Given the description of an element on the screen output the (x, y) to click on. 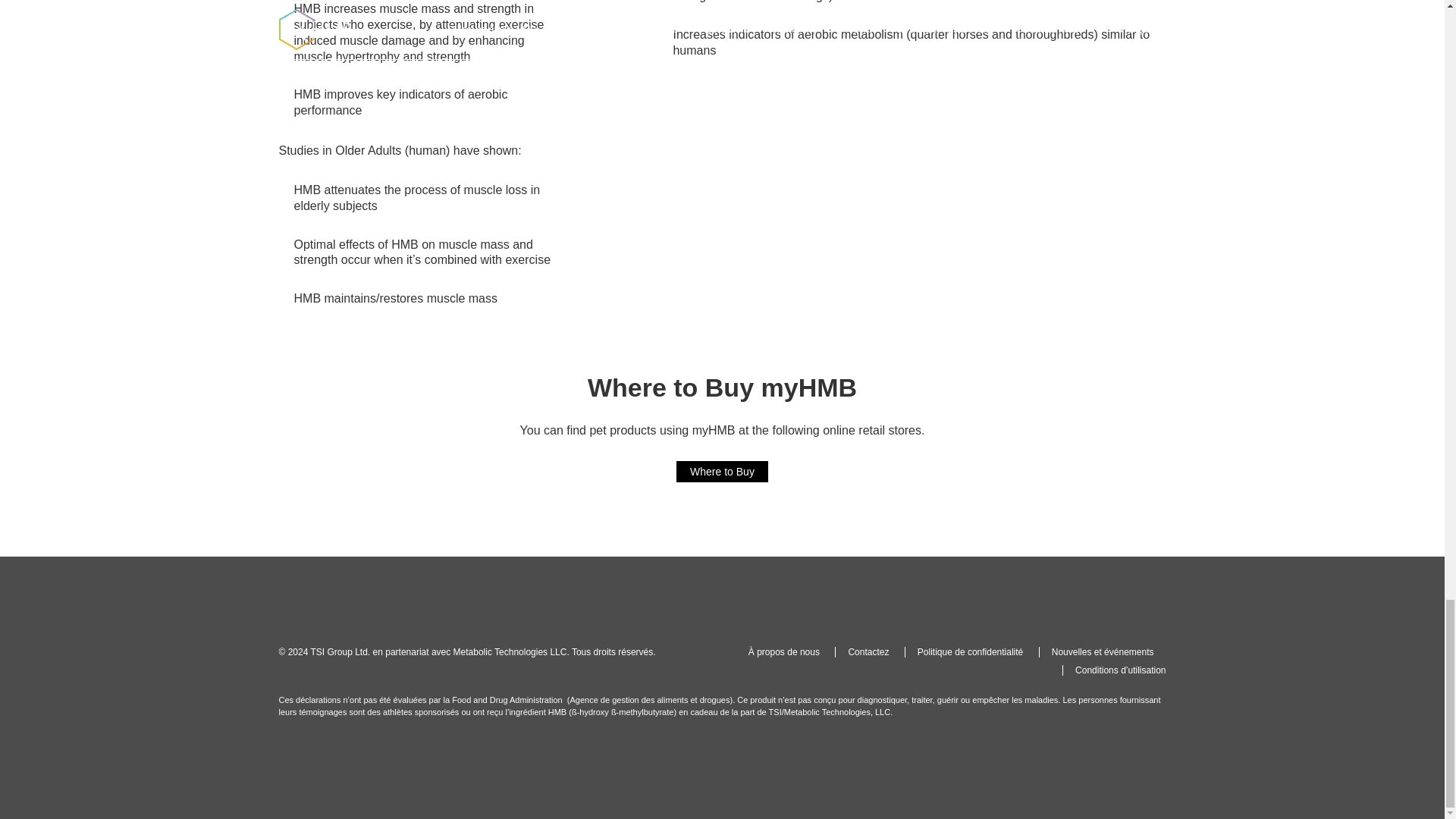
MyHMB (315, 604)
